Given the description of an element on the screen output the (x, y) to click on. 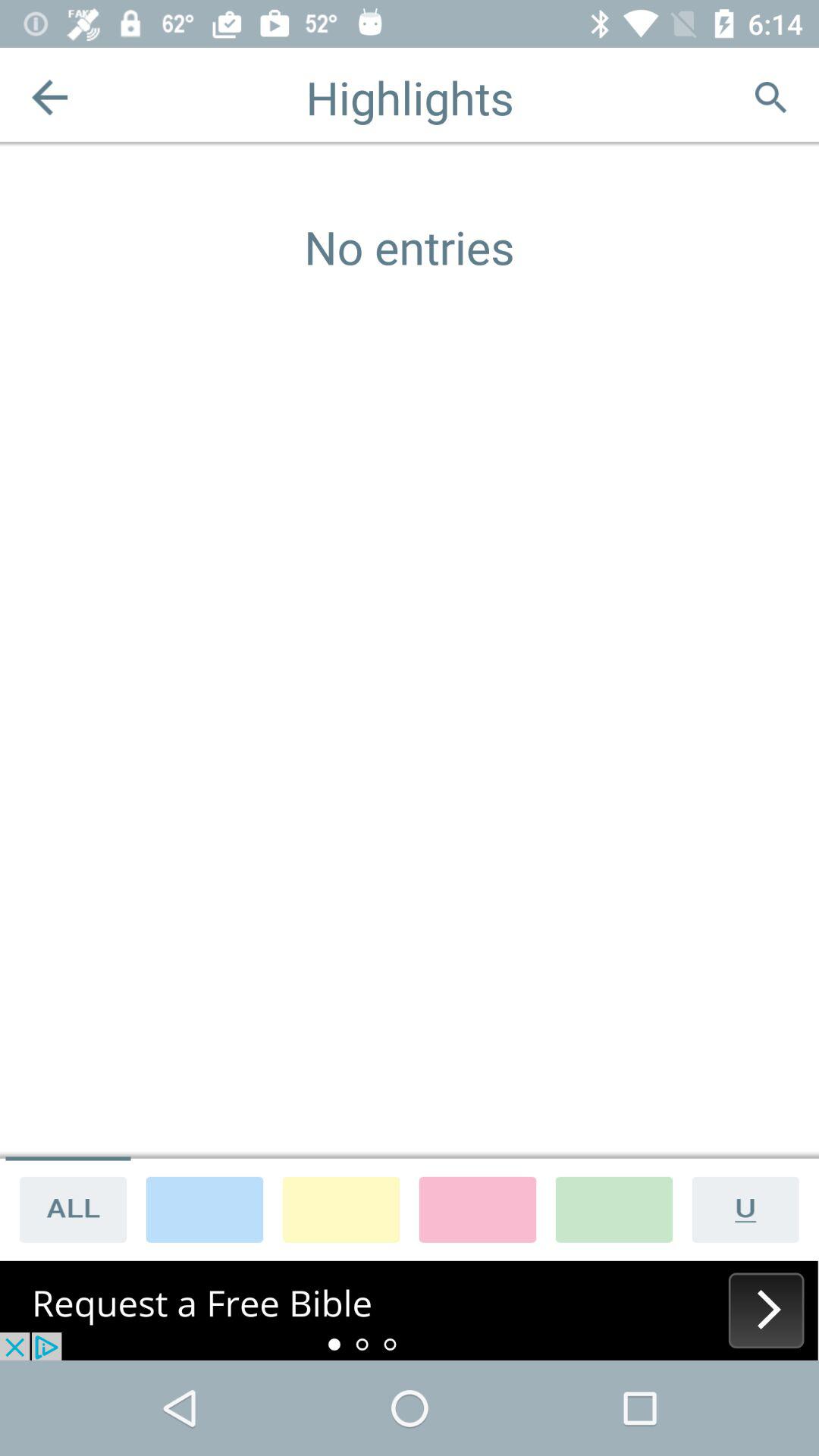
in app advertisement (409, 1310)
